Given the description of an element on the screen output the (x, y) to click on. 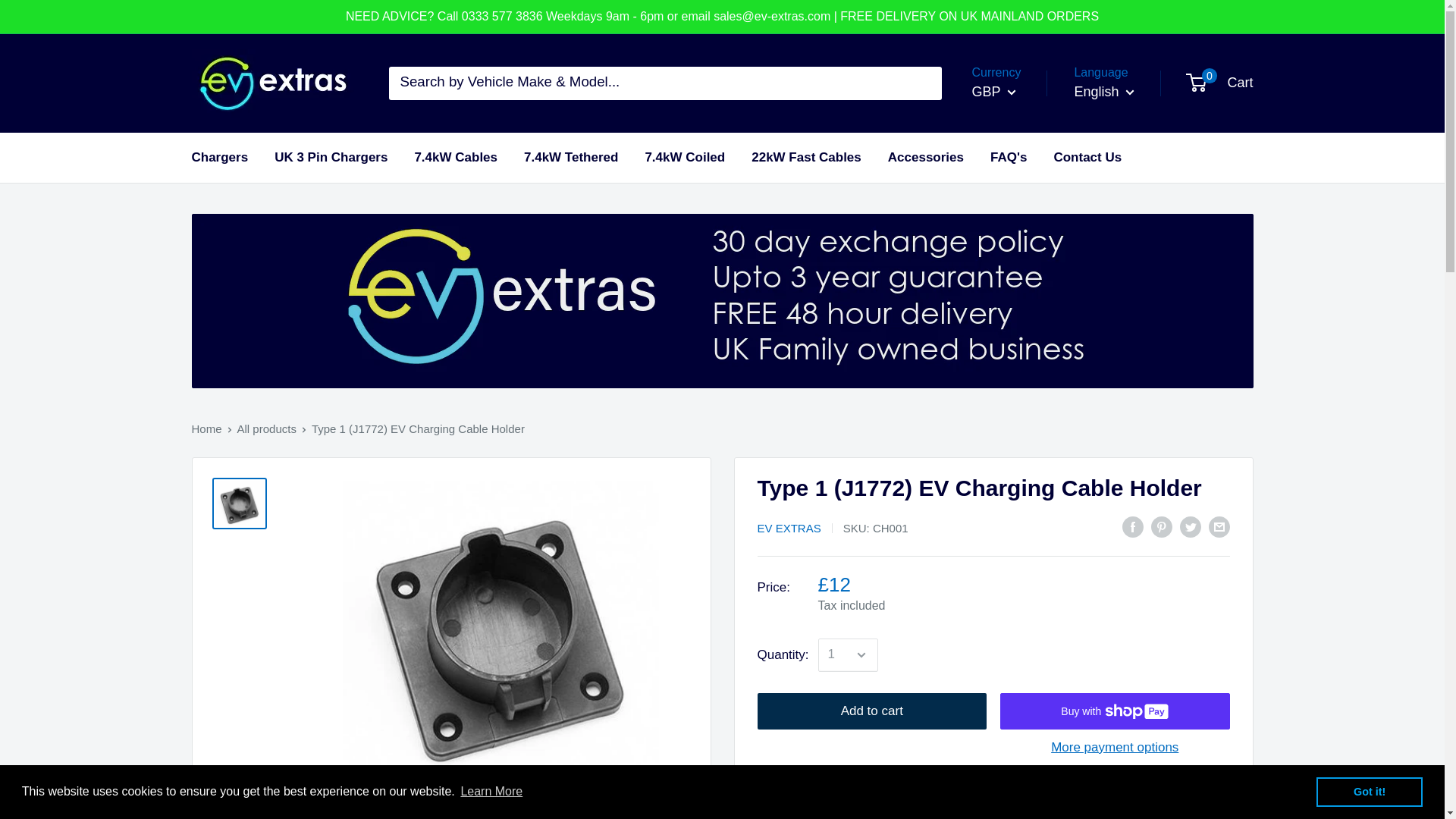
BAM (1007, 205)
MKD (1007, 449)
MDL (1007, 424)
ISK (1007, 400)
English (1104, 92)
RON (1007, 498)
CZK (1007, 278)
BGN (1007, 230)
ALL (1007, 156)
GBP (994, 92)
PLN (1007, 474)
DKK (1007, 302)
Got it! (1369, 791)
AMD (1007, 180)
UAH (1007, 571)
